Given the description of an element on the screen output the (x, y) to click on. 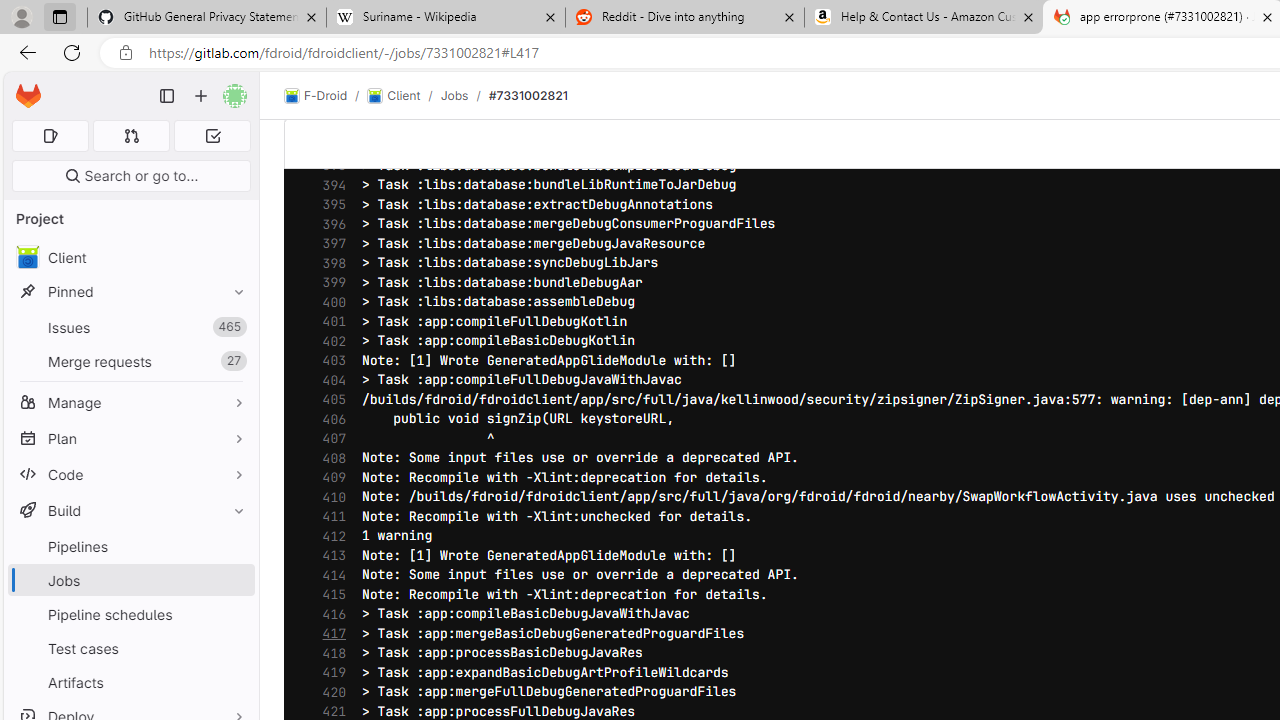
F-Droid/ (326, 96)
Pipeline schedules (130, 614)
407 (329, 439)
Unpin Issues (234, 327)
Code (130, 474)
Jobs/ (464, 95)
410 (329, 497)
412 (329, 536)
388 (329, 68)
Assigned issues 0 (50, 136)
BuildPipelinesJobsPipeline schedulesTest casesArtifacts (130, 596)
390 (329, 107)
419 (329, 673)
